Given the description of an element on the screen output the (x, y) to click on. 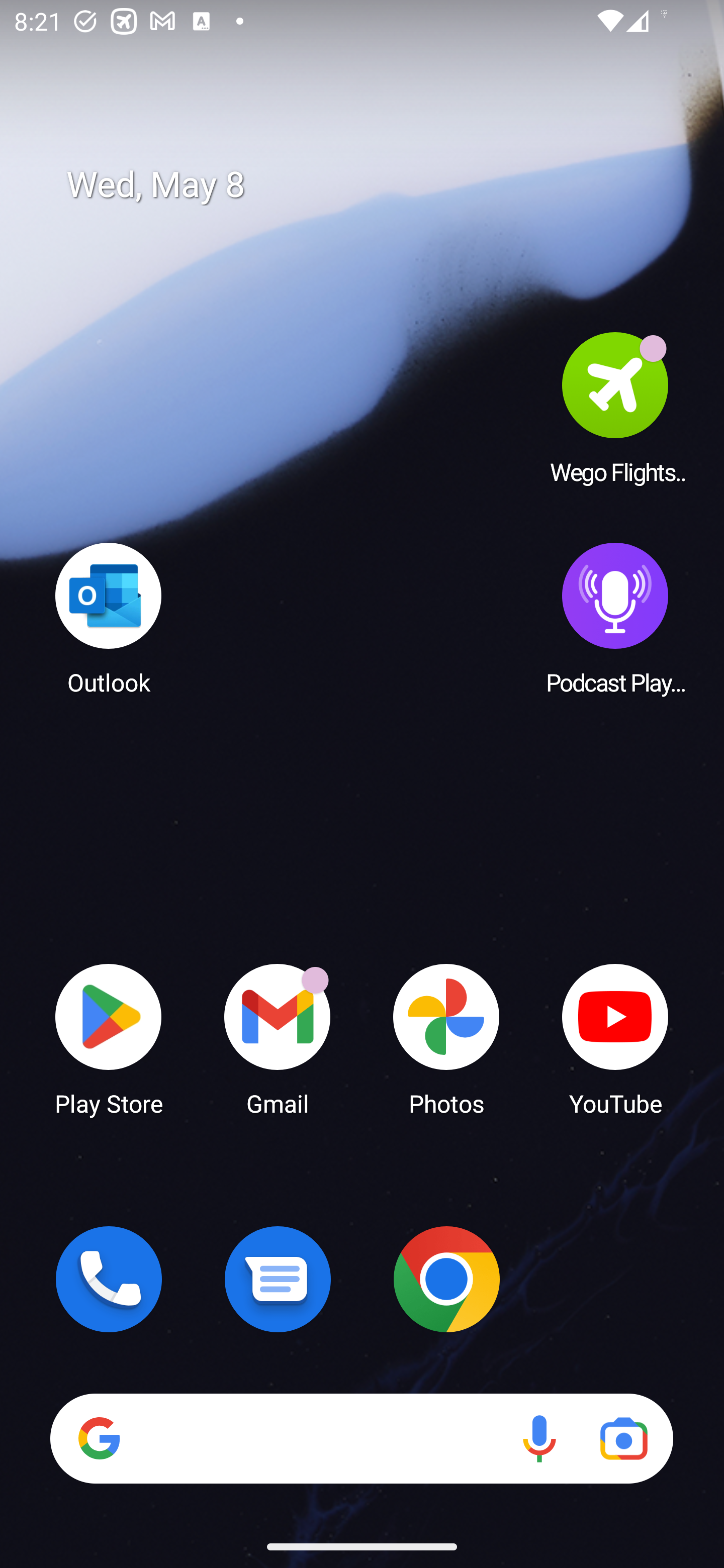
Wed, May 8 (375, 184)
Outlook (108, 617)
Podcast Player (615, 617)
Play Store (108, 1038)
Gmail Gmail has 17 notifications (277, 1038)
Photos (445, 1038)
YouTube (615, 1038)
Phone (108, 1279)
Messages (277, 1279)
Chrome (446, 1279)
Search Voice search Google Lens (361, 1438)
Voice search (539, 1438)
Google Lens (623, 1438)
